Given the description of an element on the screen output the (x, y) to click on. 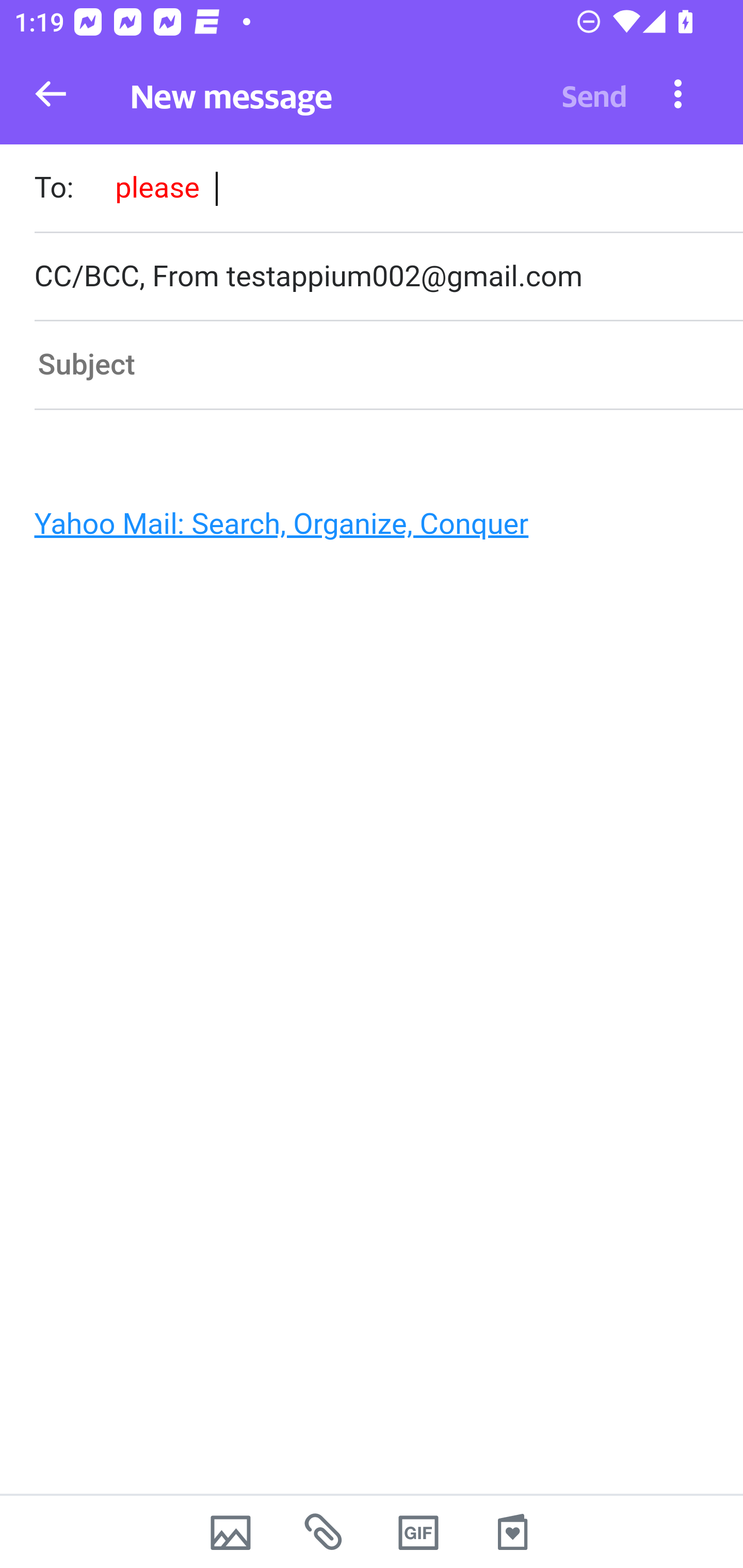
Back (50, 93)
Send (594, 93)
More options (677, 93)
To: please (387, 189)
please (156, 187)
CC/BCC, From testappium002@gmail.com (387, 276)


Yahoo Mail: Search, Organize, Conquer (363, 528)
Camera photos (230, 1531)
Recent attachments from mail (324, 1531)
GIFs (417, 1531)
Stationery (512, 1531)
